Given the description of an element on the screen output the (x, y) to click on. 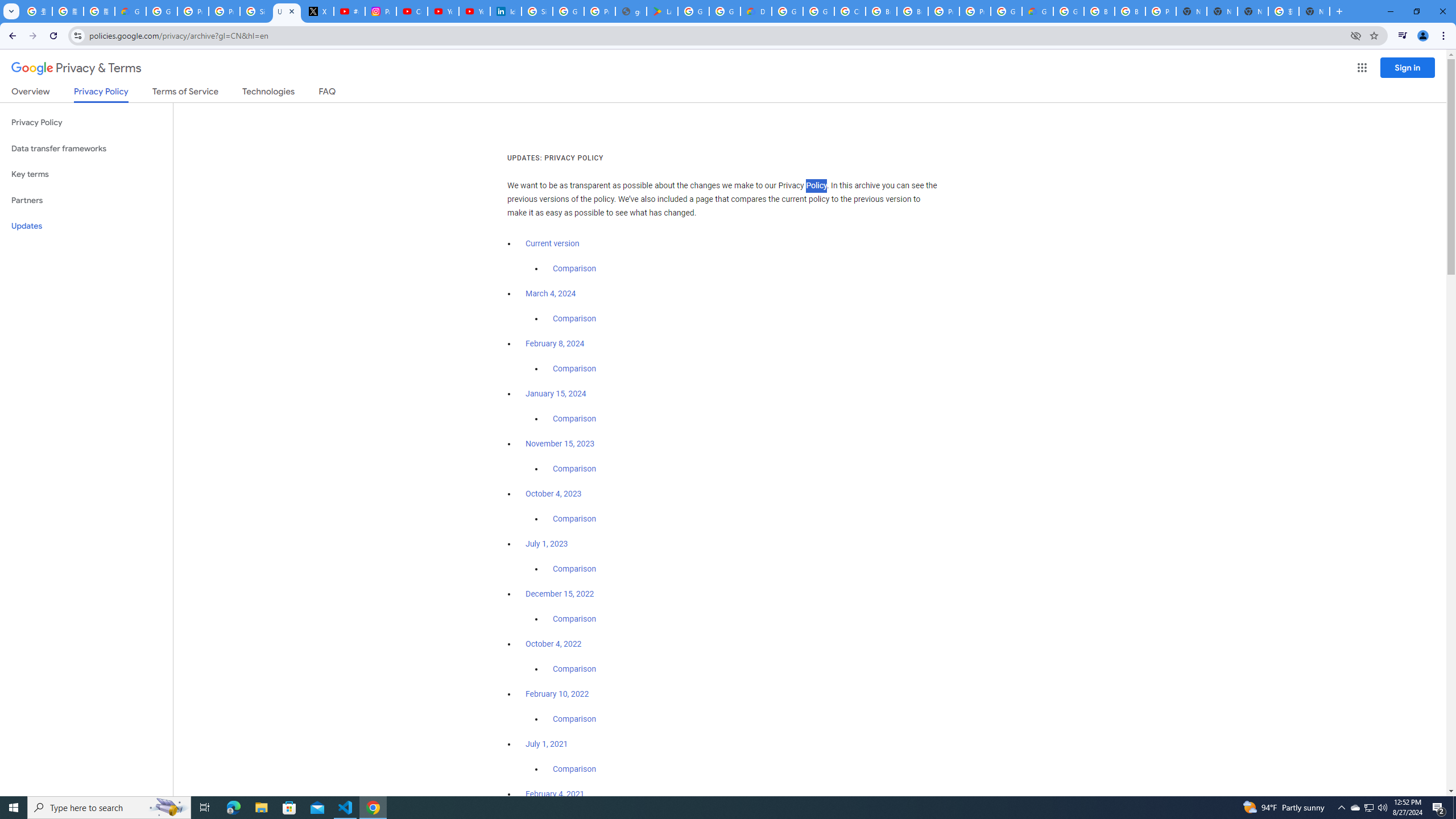
Sign in - Google Accounts (255, 11)
Google Cloud Platform (1068, 11)
Google Cloud Estimate Summary (1037, 11)
July 1, 2023 (546, 543)
February 4, 2021 (555, 793)
Privacy & Terms (76, 68)
Identity verification via Persona | LinkedIn Help (505, 11)
